Given the description of an element on the screen output the (x, y) to click on. 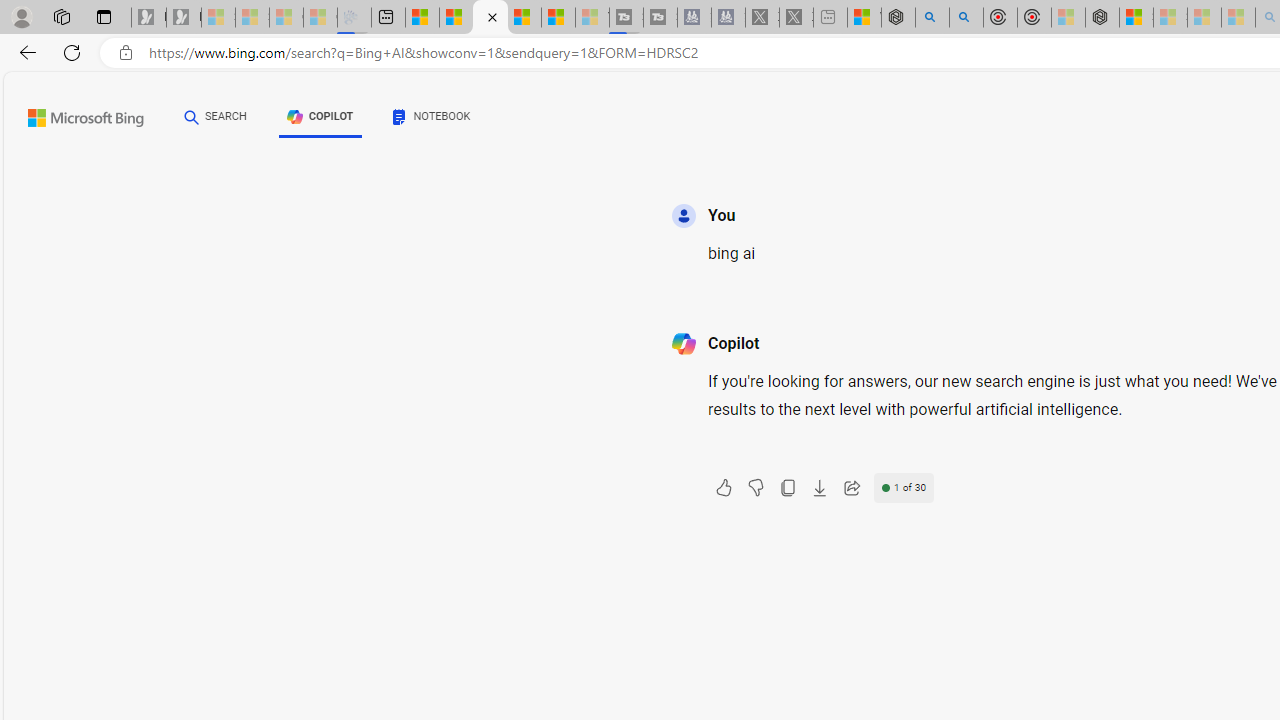
Dislike (755, 487)
Copilot with GPT-4 (489, 17)
Copy (787, 487)
NOTEBOOK (431, 120)
SEARCH (215, 117)
Nordace - Summer Adventures 2024 (898, 17)
